Given the description of an element on the screen output the (x, y) to click on. 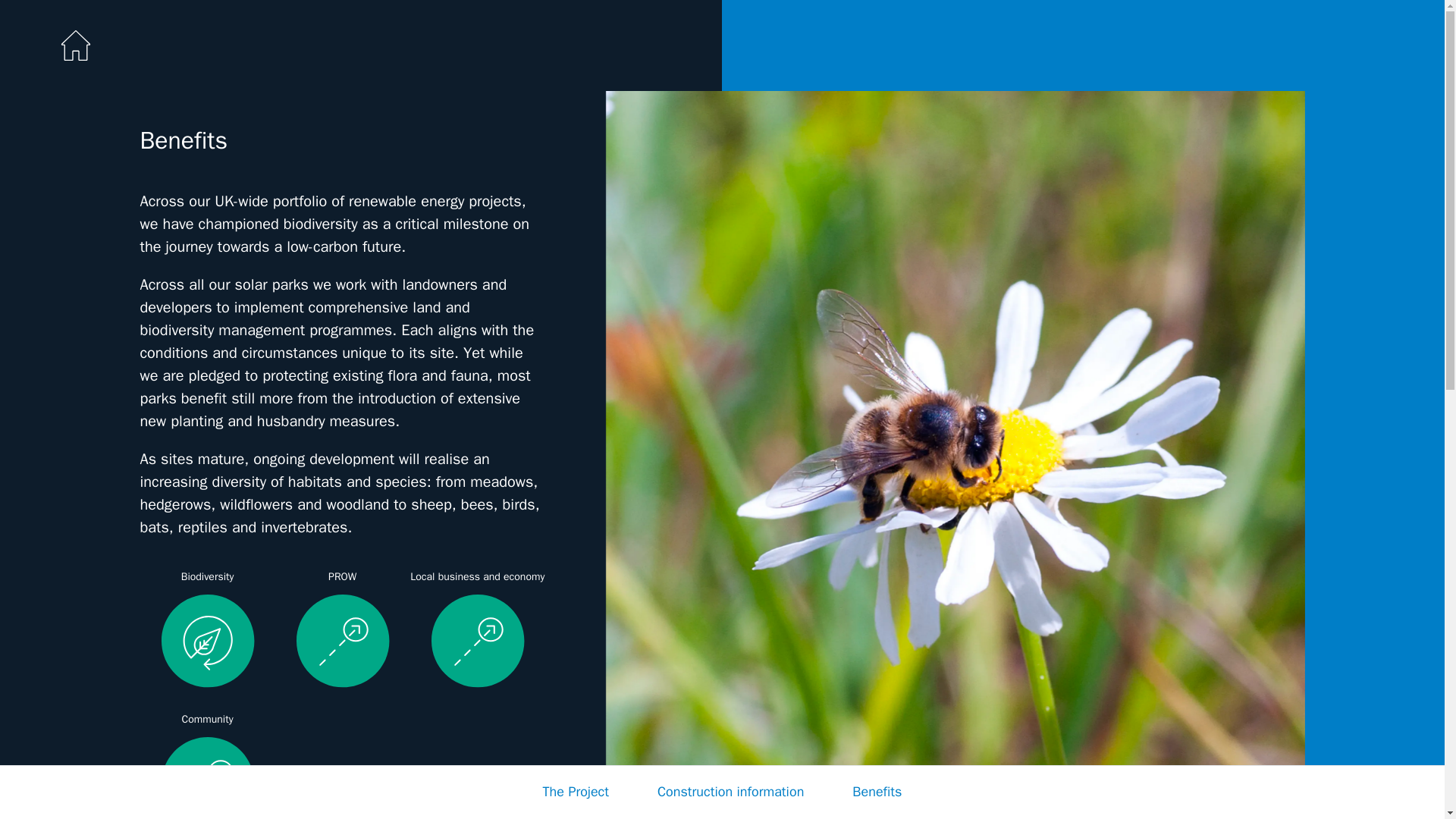
Construction information (730, 791)
The Project (575, 791)
Back to home page (75, 45)
Benefits (876, 791)
